Given the description of an element on the screen output the (x, y) to click on. 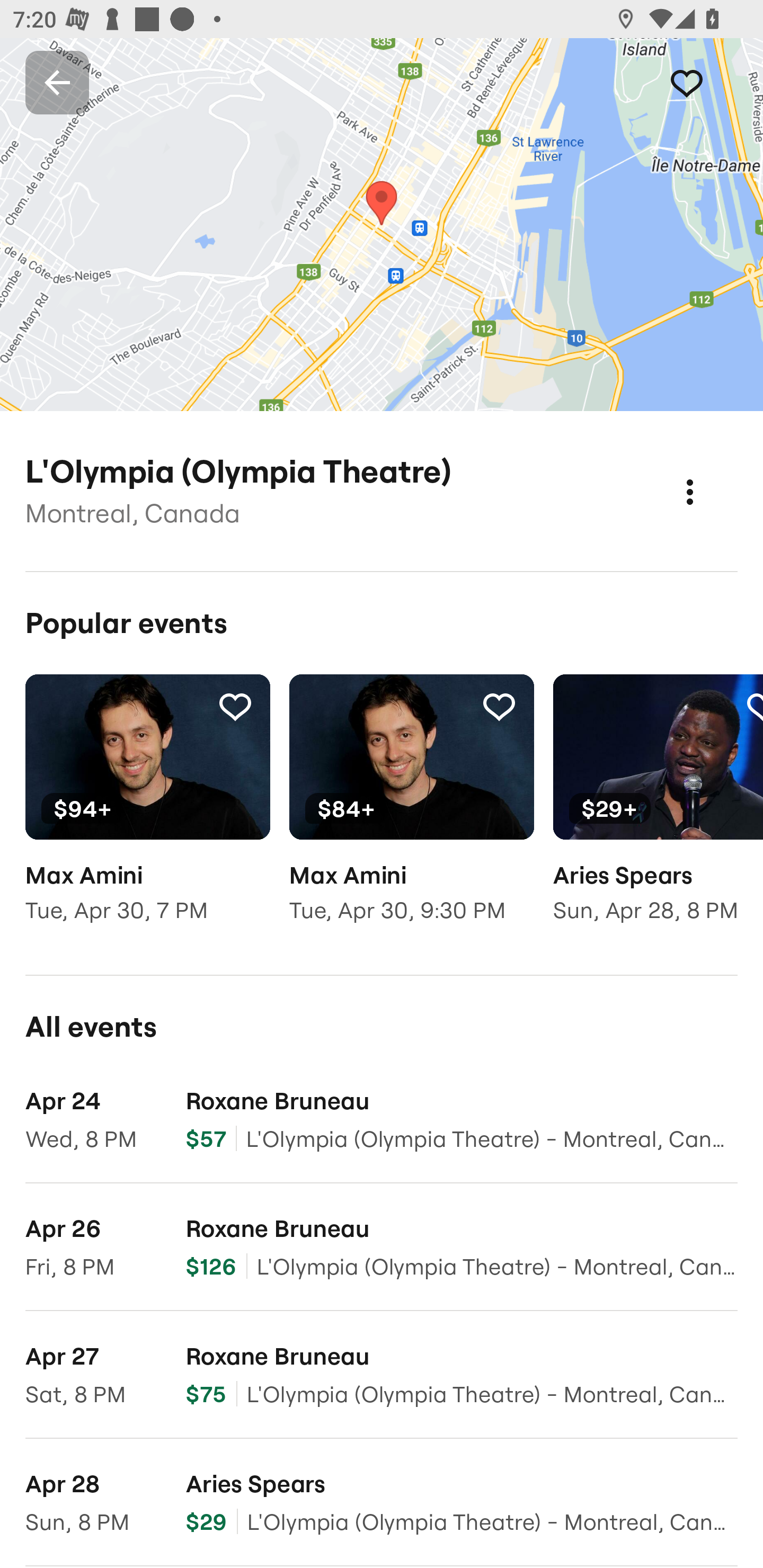
Back (57, 81)
Tracking (705, 81)
See more options (708, 472)
Tracking $94+ Max Amini Tue, Apr 30, 7 PM (147, 811)
Tracking $84+ Max Amini Tue, Apr 30, 9:30 PM (411, 811)
Tracking $29+ Aries Spears Sun, Apr 28, 8 PM (658, 811)
Tracking (234, 705)
Tracking (498, 705)
